Given the description of an element on the screen output the (x, y) to click on. 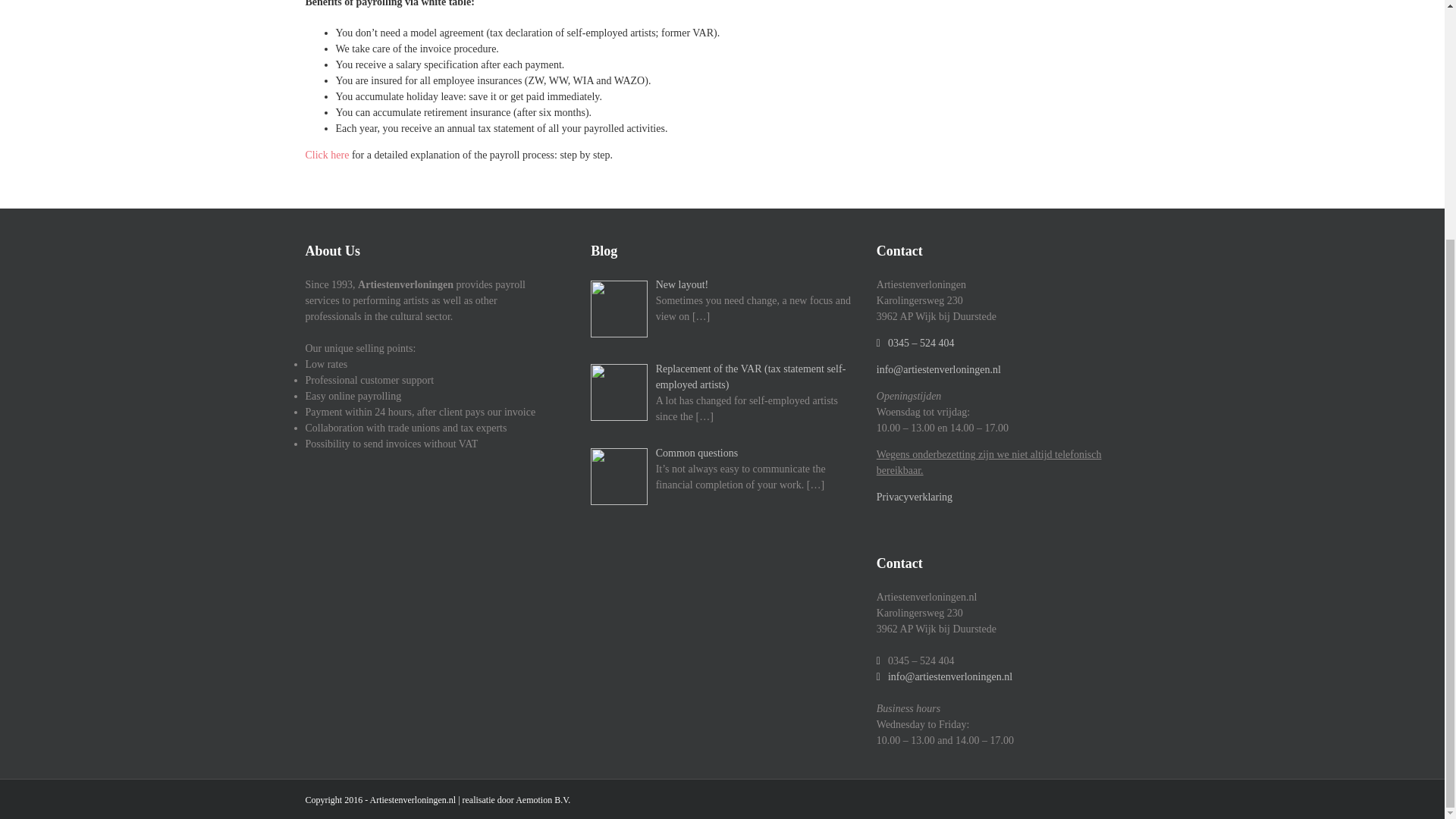
New layout! (722, 284)
Common questions (722, 453)
Click here (326, 154)
Privacyverklaring (914, 496)
